Given the description of an element on the screen output the (x, y) to click on. 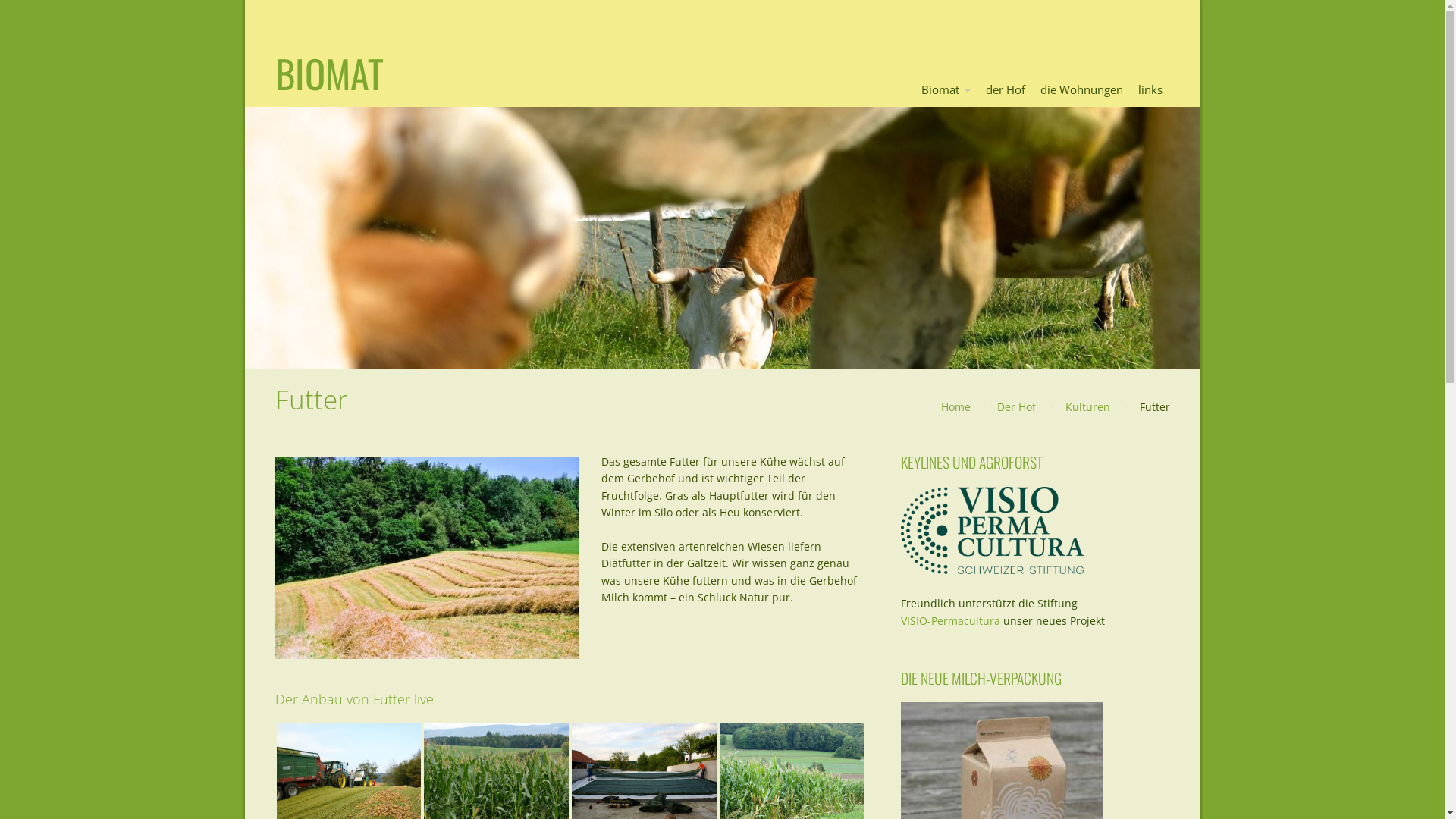
links Element type: text (1149, 90)
der Hof Element type: text (1005, 90)
Kulturen Element type: text (1086, 406)
die Wohnungen Element type: text (1081, 90)
Der Hof Element type: text (1015, 406)
VISIO-Permacultura Element type: text (950, 620)
Home Element type: text (954, 406)
BIOMAT Element type: text (328, 72)
Biomat Element type: text (945, 90)
